Given the description of an element on the screen output the (x, y) to click on. 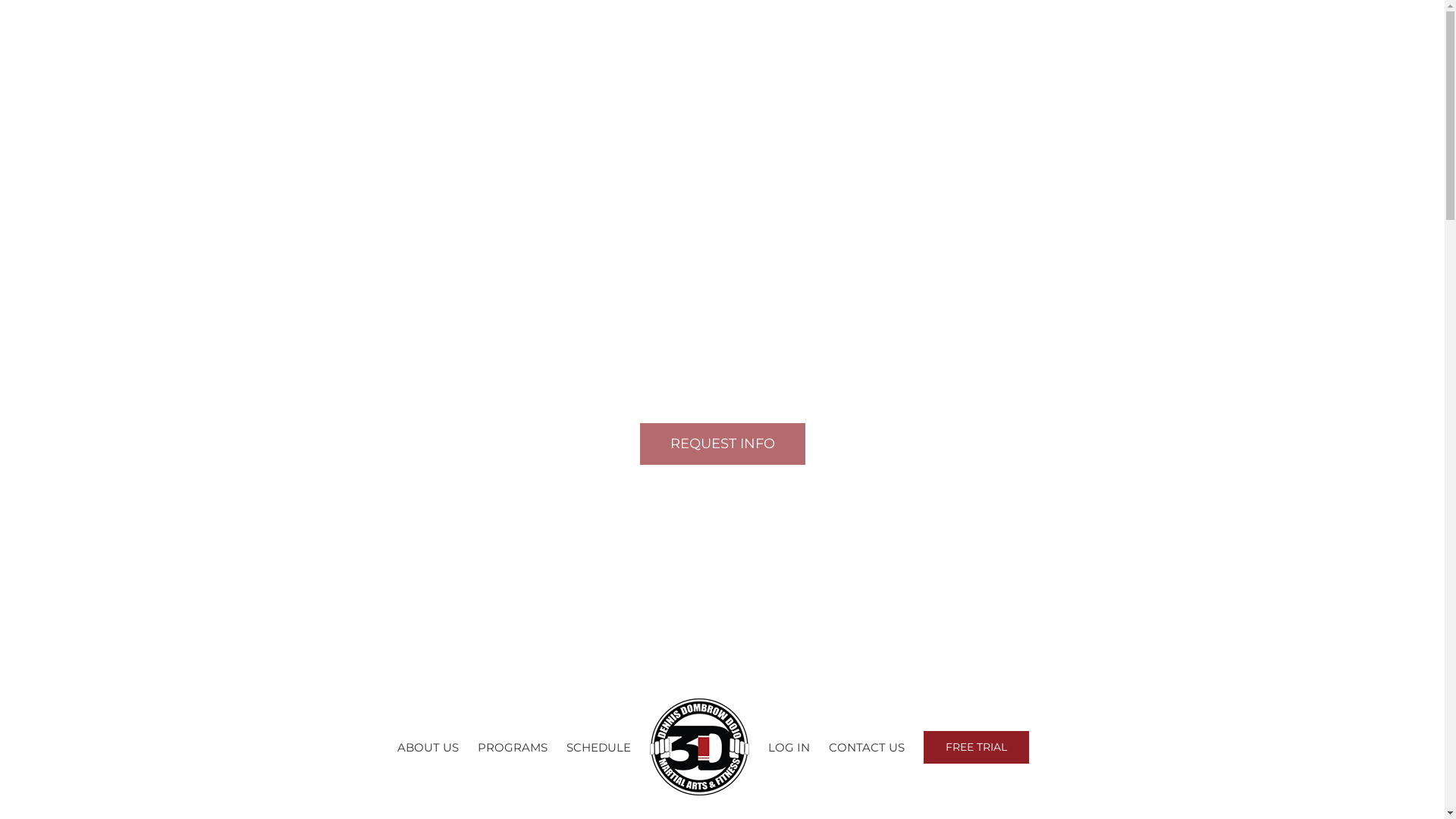
PROGRAMS Element type: text (512, 746)
LOG IN Element type: text (788, 746)
REQUEST INFO Element type: text (721, 443)
FREE TRIAL Element type: text (976, 746)
CONTACT US Element type: text (865, 746)
ABOUT US Element type: text (427, 746)
SCHEDULE Element type: text (597, 746)
